Given the description of an element on the screen output the (x, y) to click on. 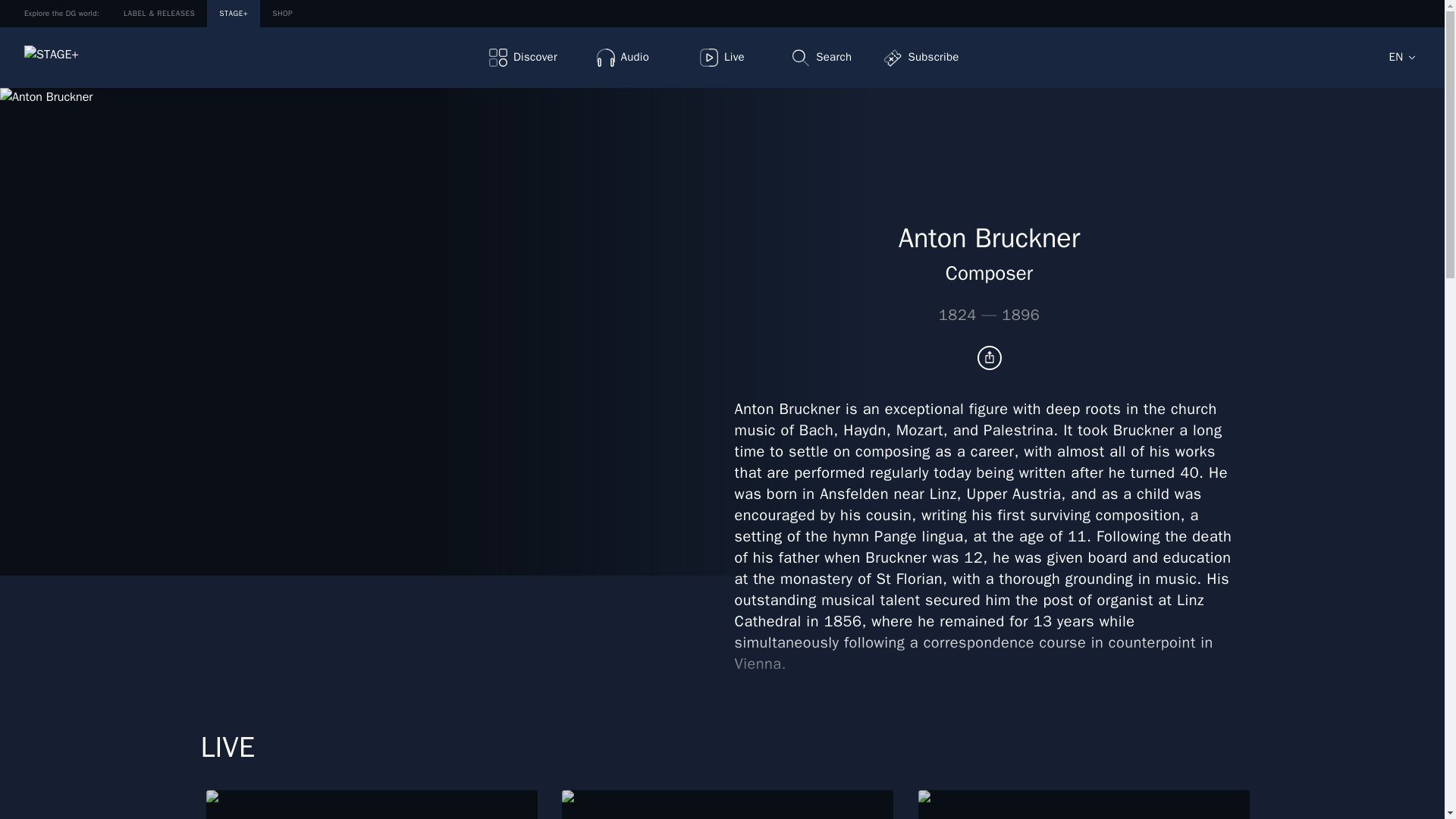
Share (989, 357)
SHOP (282, 13)
Subscribe (920, 57)
Audio (622, 57)
Discover (522, 57)
Search (820, 57)
Live (721, 57)
